Given the description of an element on the screen output the (x, y) to click on. 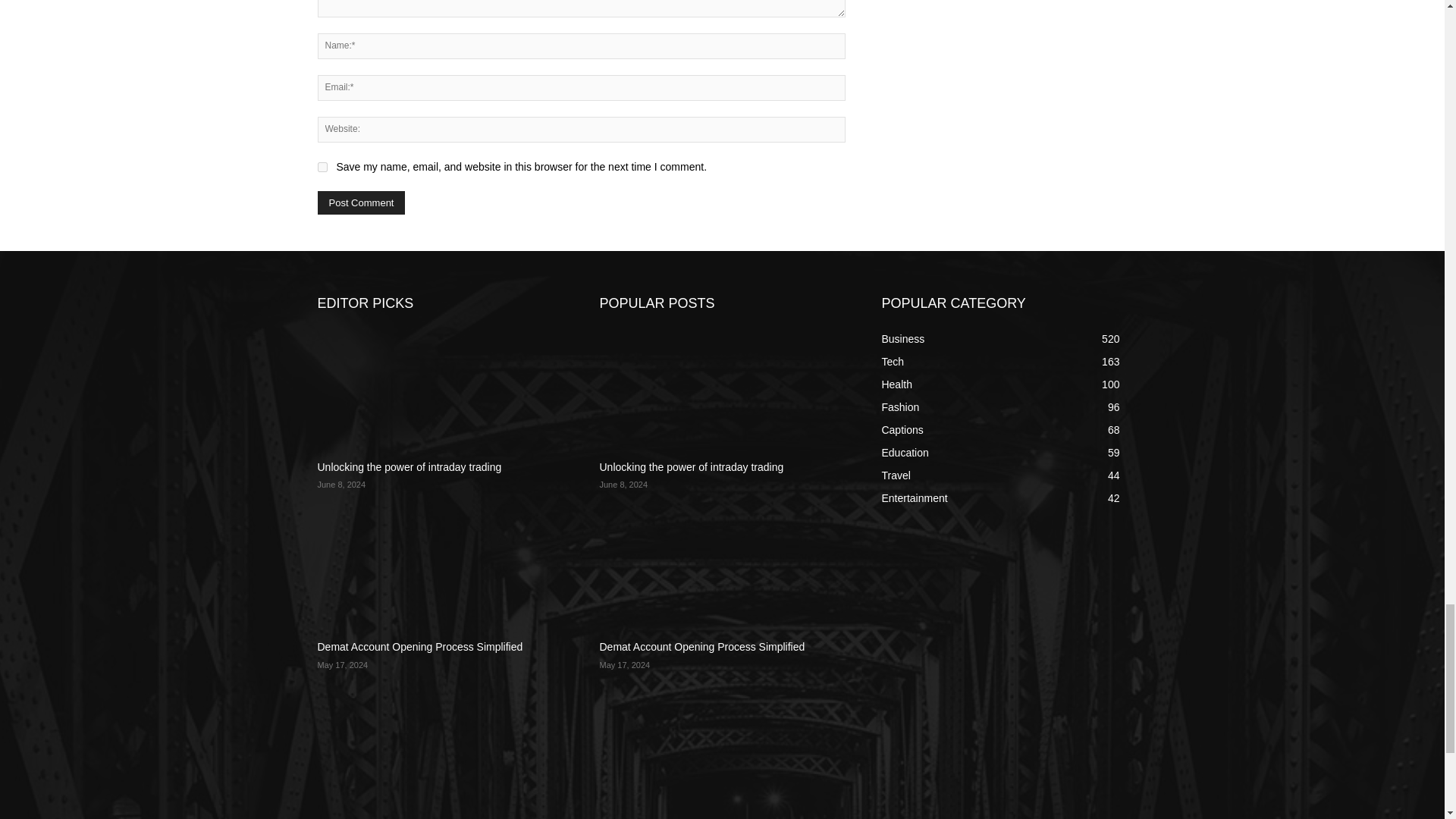
Post Comment (360, 202)
yes (321, 166)
